Given the description of an element on the screen output the (x, y) to click on. 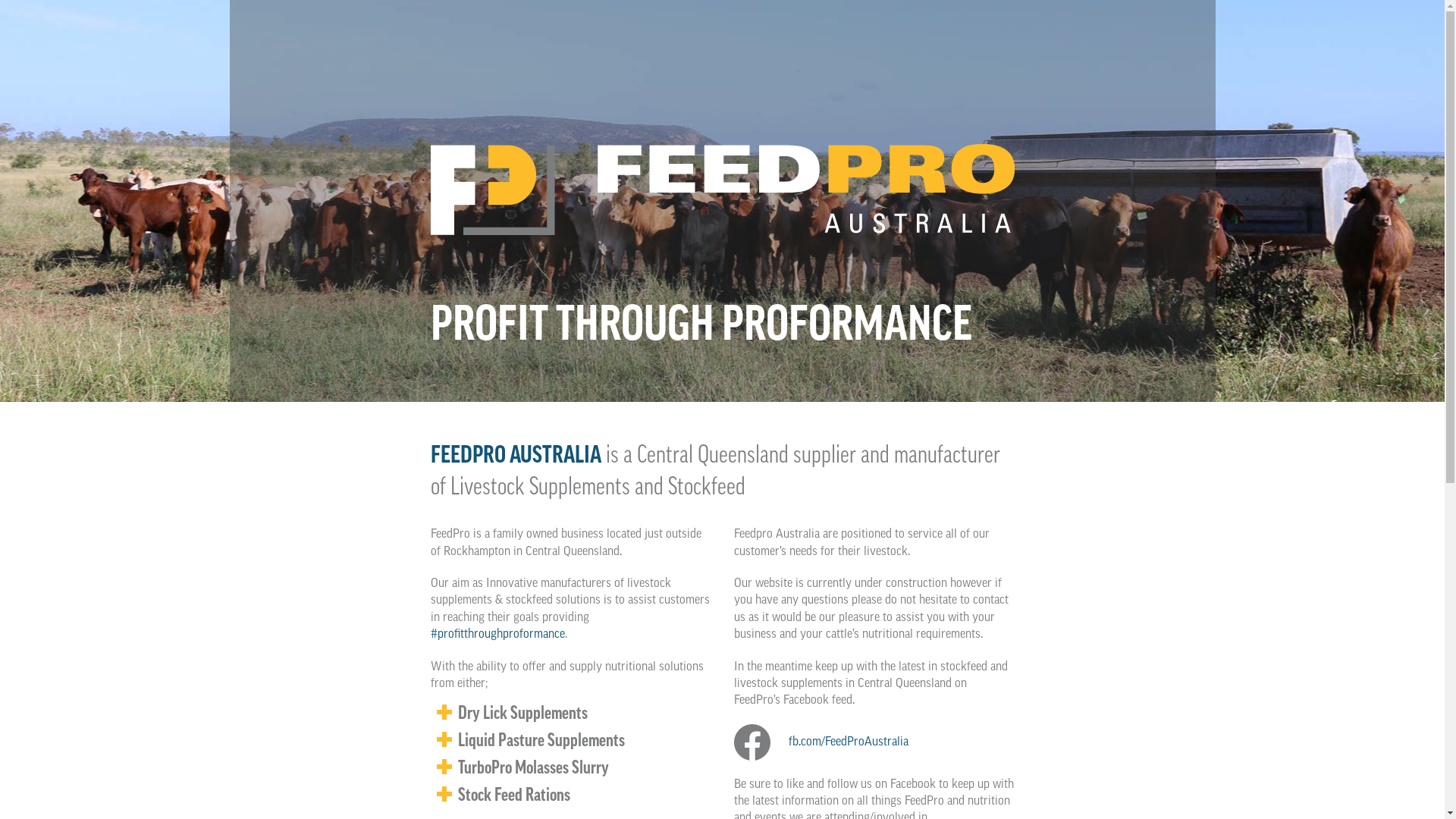
#profitthroughproformance Element type: text (497, 633)
fb.com/FeedProAustralia Element type: text (874, 742)
